Given the description of an element on the screen output the (x, y) to click on. 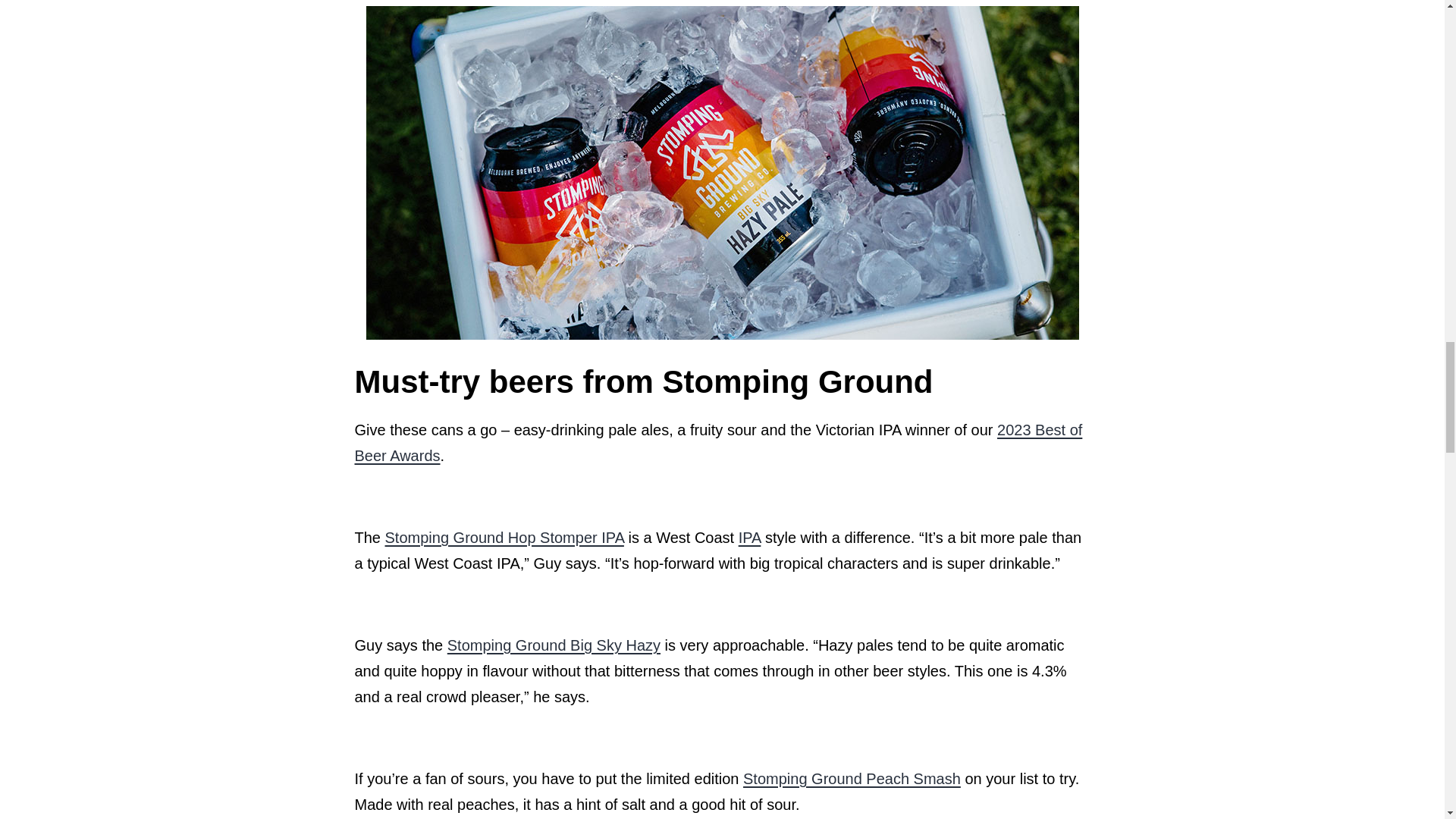
Stomping Ground Hop Stomper IPA (504, 537)
Stomping Ground Big Sky Hazy (553, 645)
Stomping Ground Peach Smash (851, 778)
IPA (749, 537)
2023 Best of Beer Awards (719, 442)
